Given the description of an element on the screen output the (x, y) to click on. 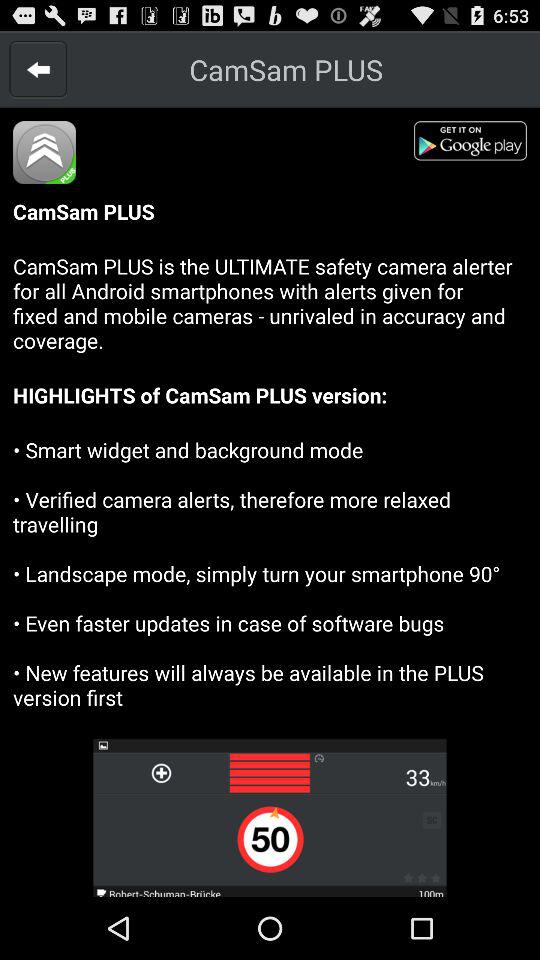
go back (38, 69)
